Given the description of an element on the screen output the (x, y) to click on. 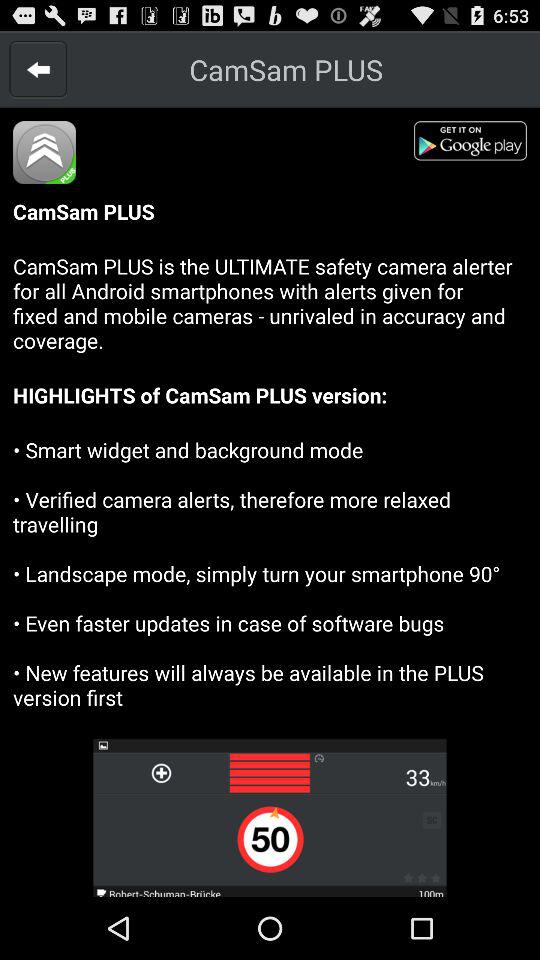
go back (38, 69)
